Given the description of an element on the screen output the (x, y) to click on. 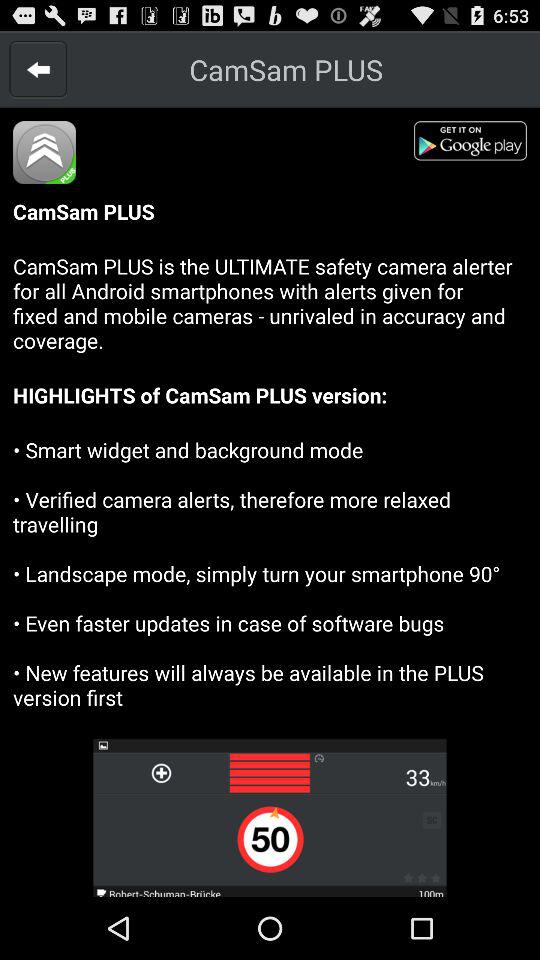
go back (38, 69)
